Given the description of an element on the screen output the (x, y) to click on. 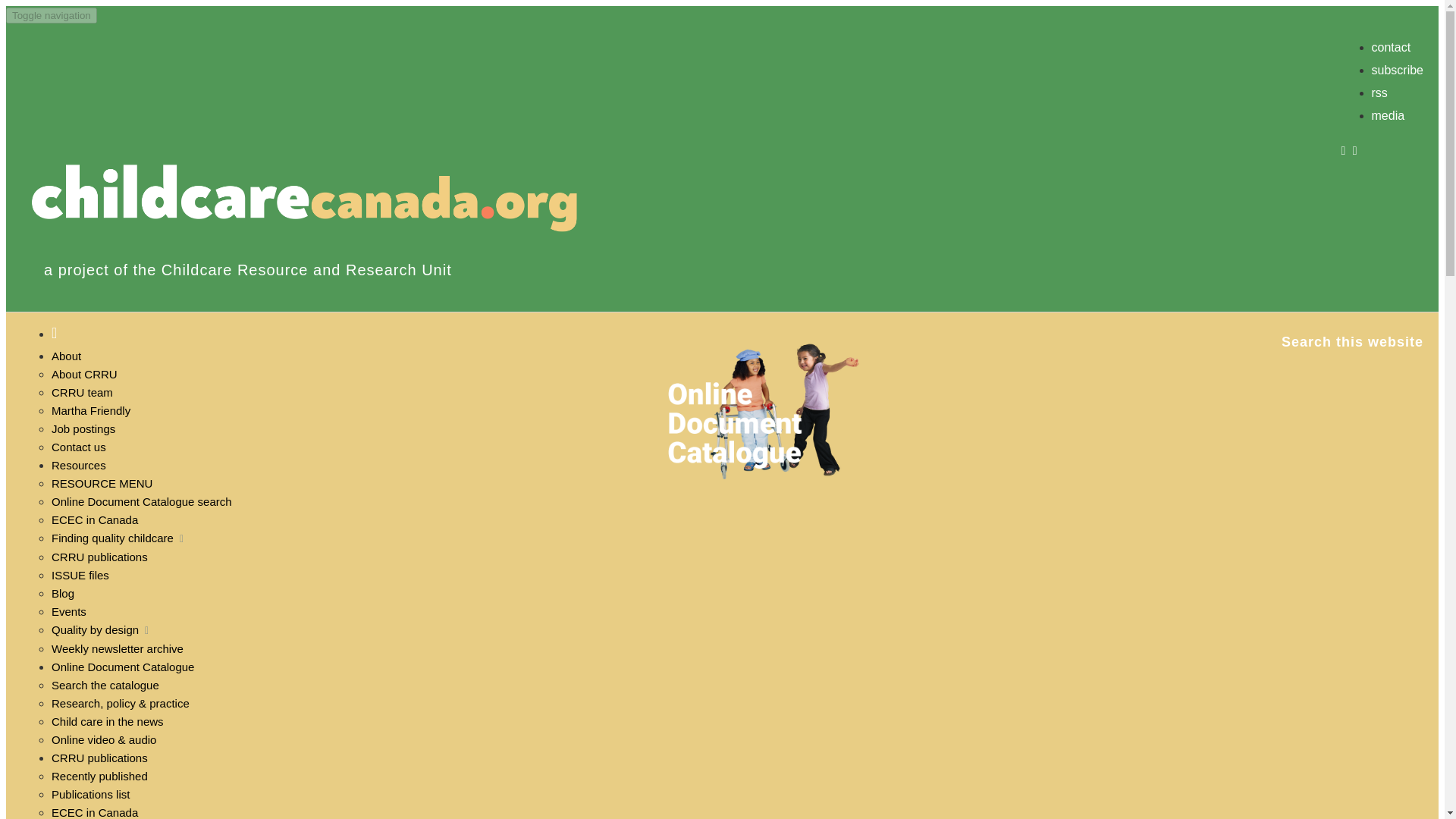
ECEC in Canada (94, 812)
Publications list (89, 793)
ECEC in Canada (94, 519)
Blog (62, 593)
About Martha Friendly, CRRU Executive Director (90, 410)
About (65, 355)
Subscribe to CRRU rss feeds (1382, 92)
Online Document Catalogue search (140, 501)
Toggle navigation (51, 15)
Join our team! (82, 428)
CRRU team (81, 391)
Browse key CRRU resource areas (78, 464)
Martha Friendly (90, 410)
Contact us (78, 446)
subscribe (1401, 69)
